Given the description of an element on the screen output the (x, y) to click on. 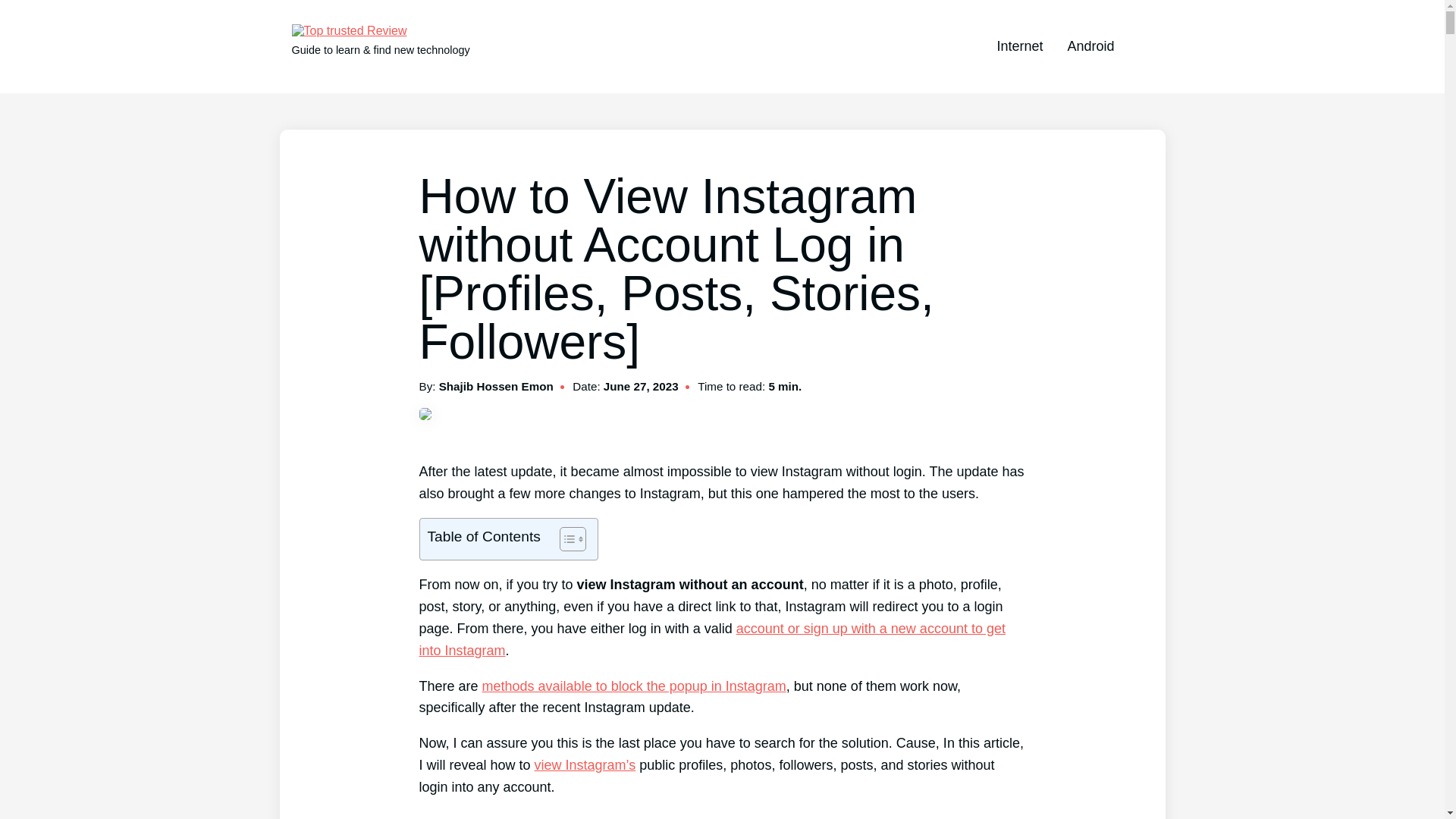
methods available to block the popup in Instagram (633, 685)
Search for: (1139, 46)
Internet (1018, 46)
account or sign up with a new account to get into Instagram (711, 639)
Android (1090, 46)
